Given the description of an element on the screen output the (x, y) to click on. 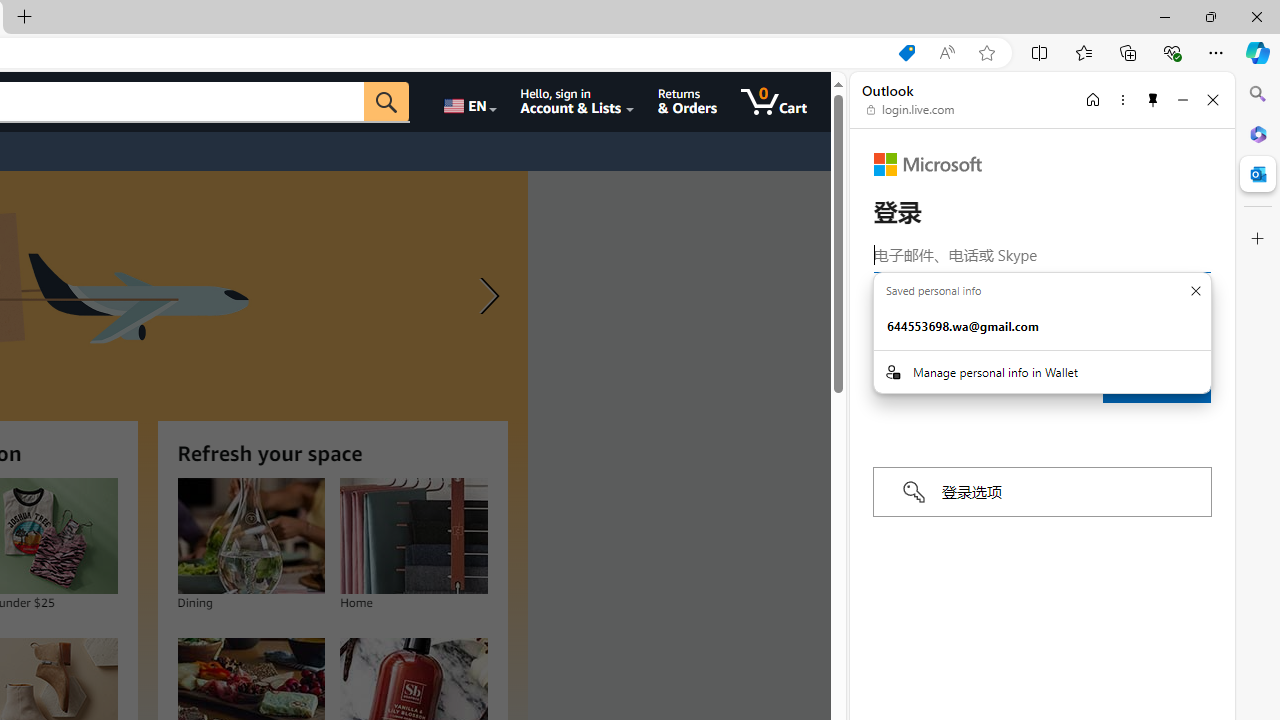
Go (386, 101)
644553698.wa@gmail.com. :Basic info suggestion. (1042, 327)
Returns & Orders (686, 101)
